Given the description of an element on the screen output the (x, y) to click on. 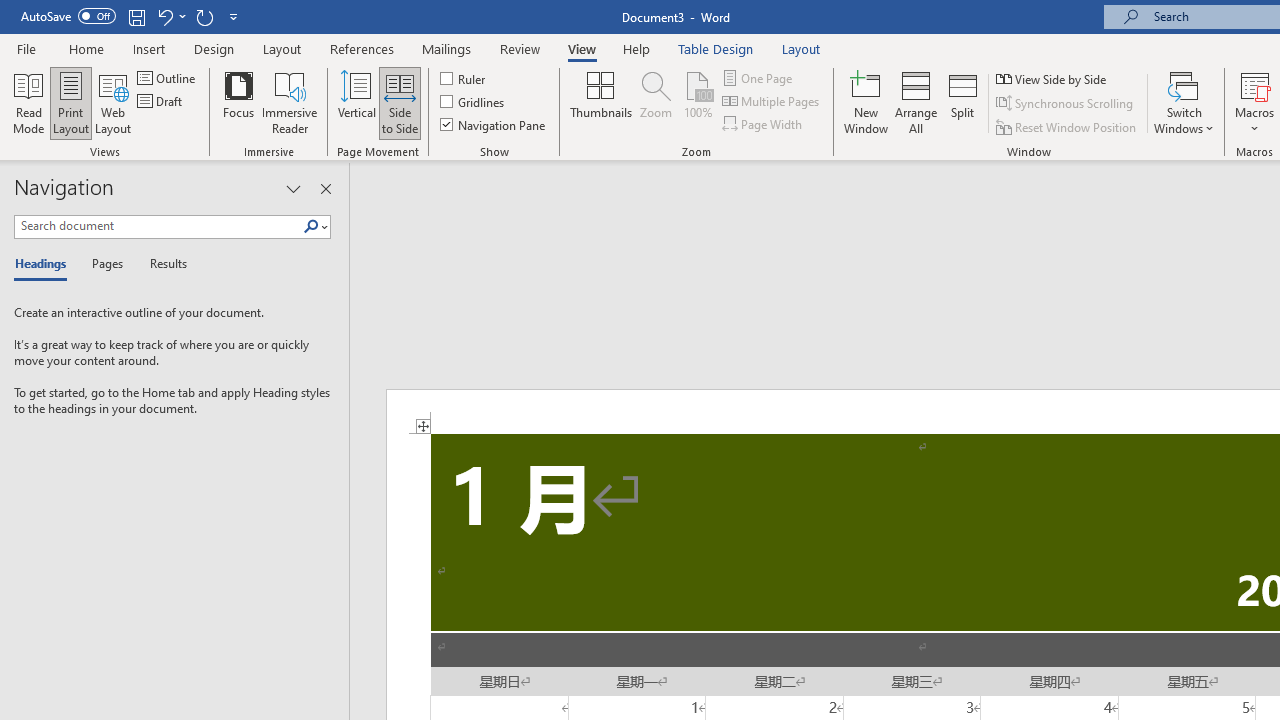
Close pane (325, 188)
Outline (168, 78)
New Window (866, 102)
Customize Quick Access Toolbar (234, 15)
Task Pane Options (293, 188)
Design (214, 48)
Multiple Pages (772, 101)
Headings (45, 264)
AutoSave (68, 16)
Immersive Reader (289, 102)
Draft (161, 101)
Undo Increase Indent (164, 15)
